Given the description of an element on the screen output the (x, y) to click on. 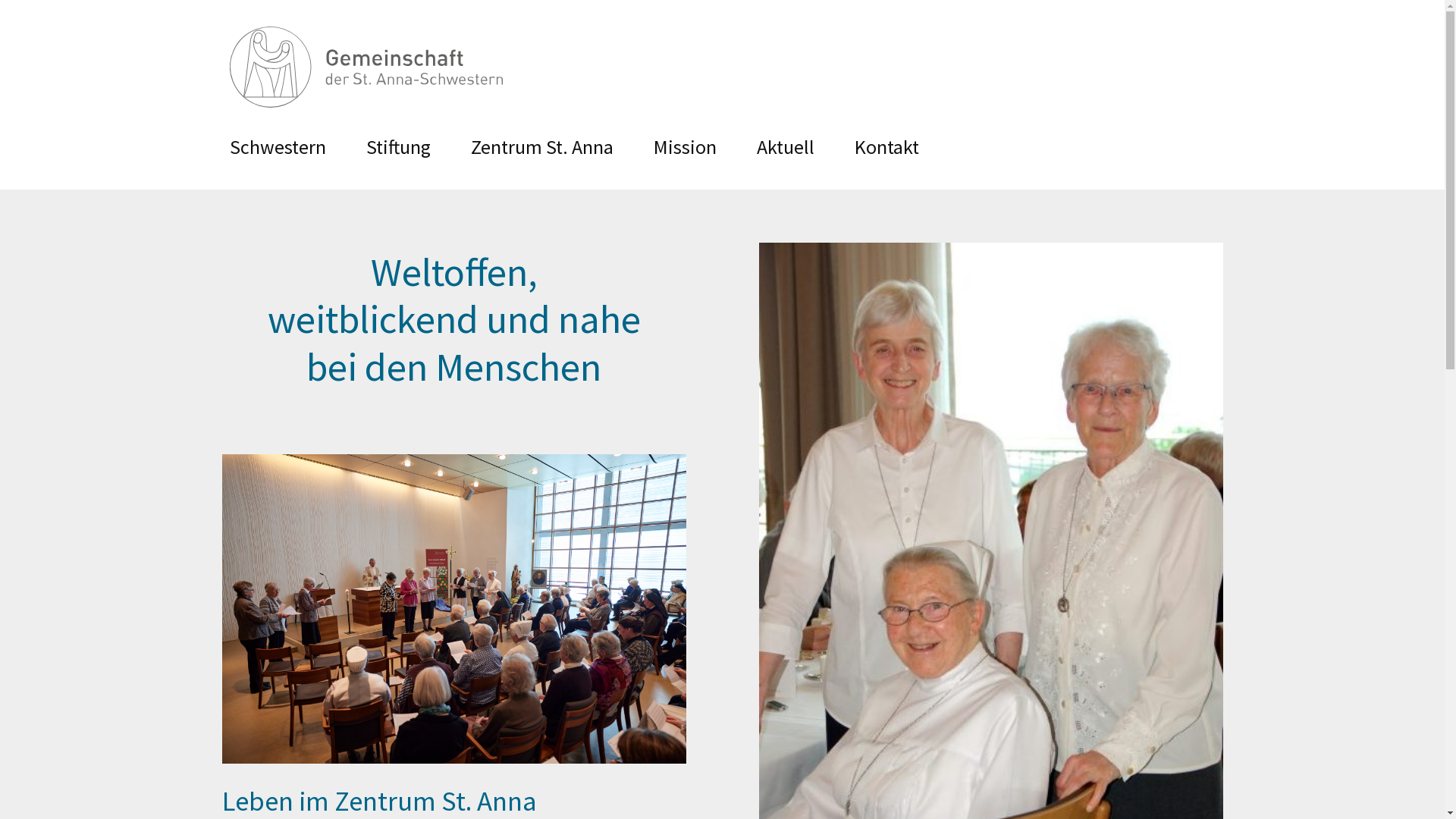
Schwestern Element type: text (277, 146)
Mission Element type: text (684, 146)
Kontakt Element type: text (885, 146)
Aktuell Element type: text (785, 146)
Zentrum St. Anna Element type: text (541, 146)
Stiftung Element type: text (397, 146)
